Given the description of an element on the screen output the (x, y) to click on. 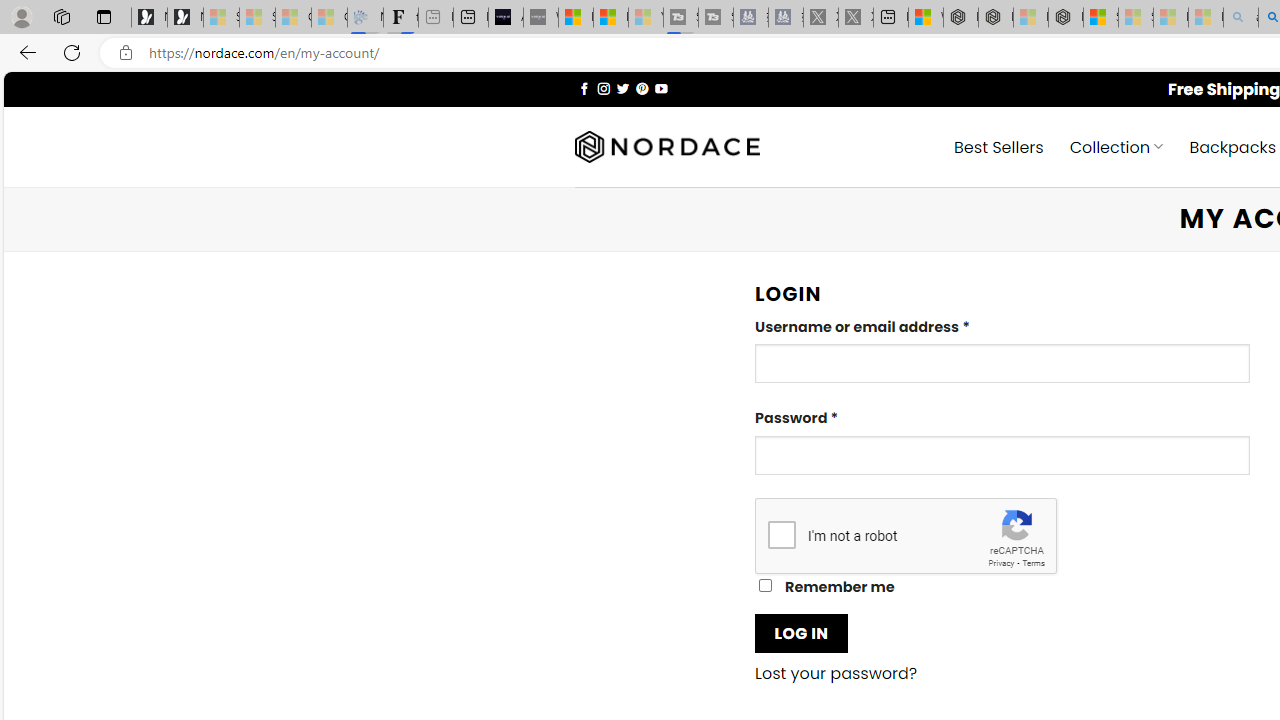
 Best Sellers (998, 146)
